Given the description of an element on the screen output the (x, y) to click on. 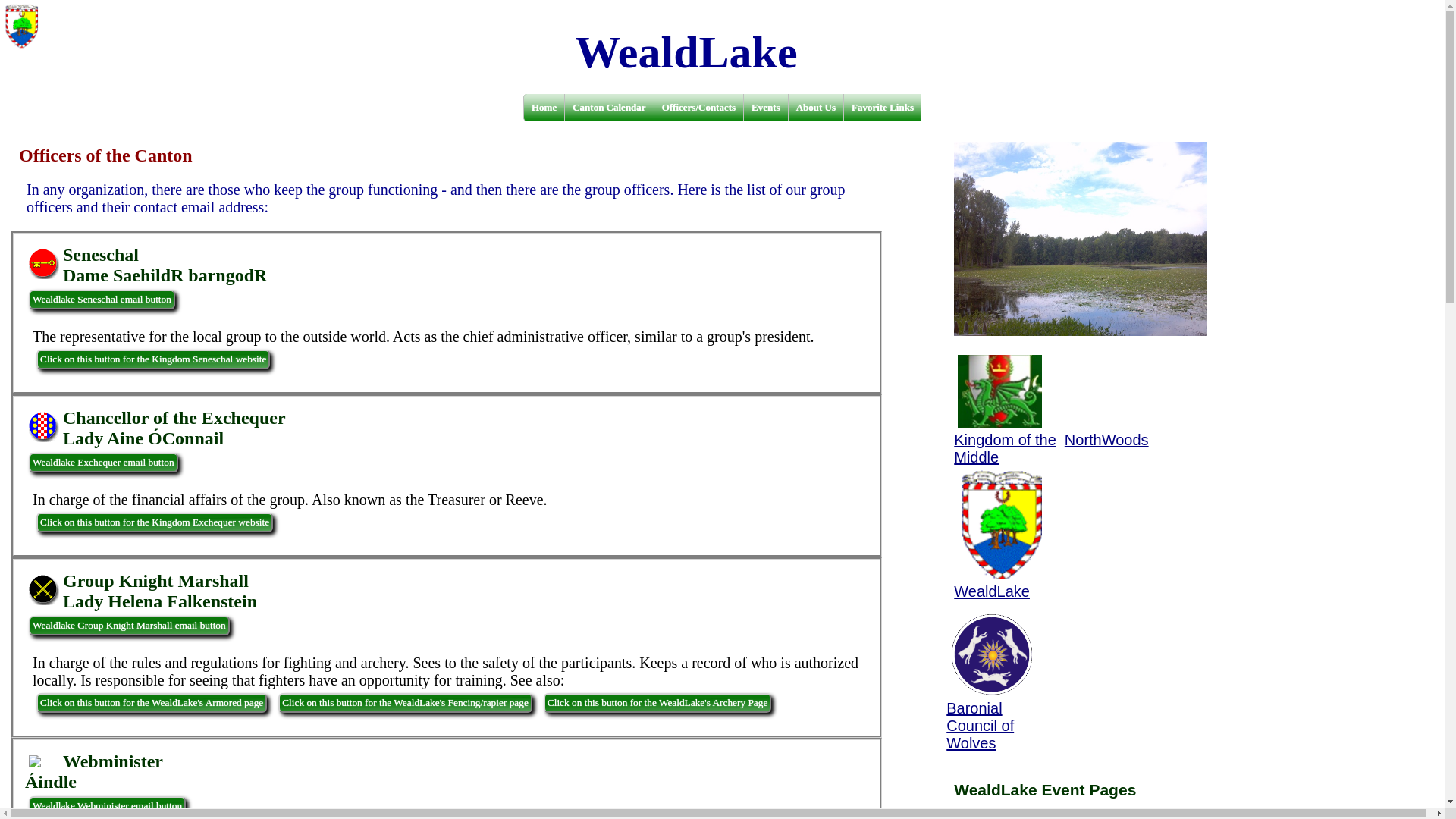
About Us (815, 107)
Canton Calendar (608, 107)
Events (764, 107)
Home (543, 107)
